Given the description of an element on the screen output the (x, y) to click on. 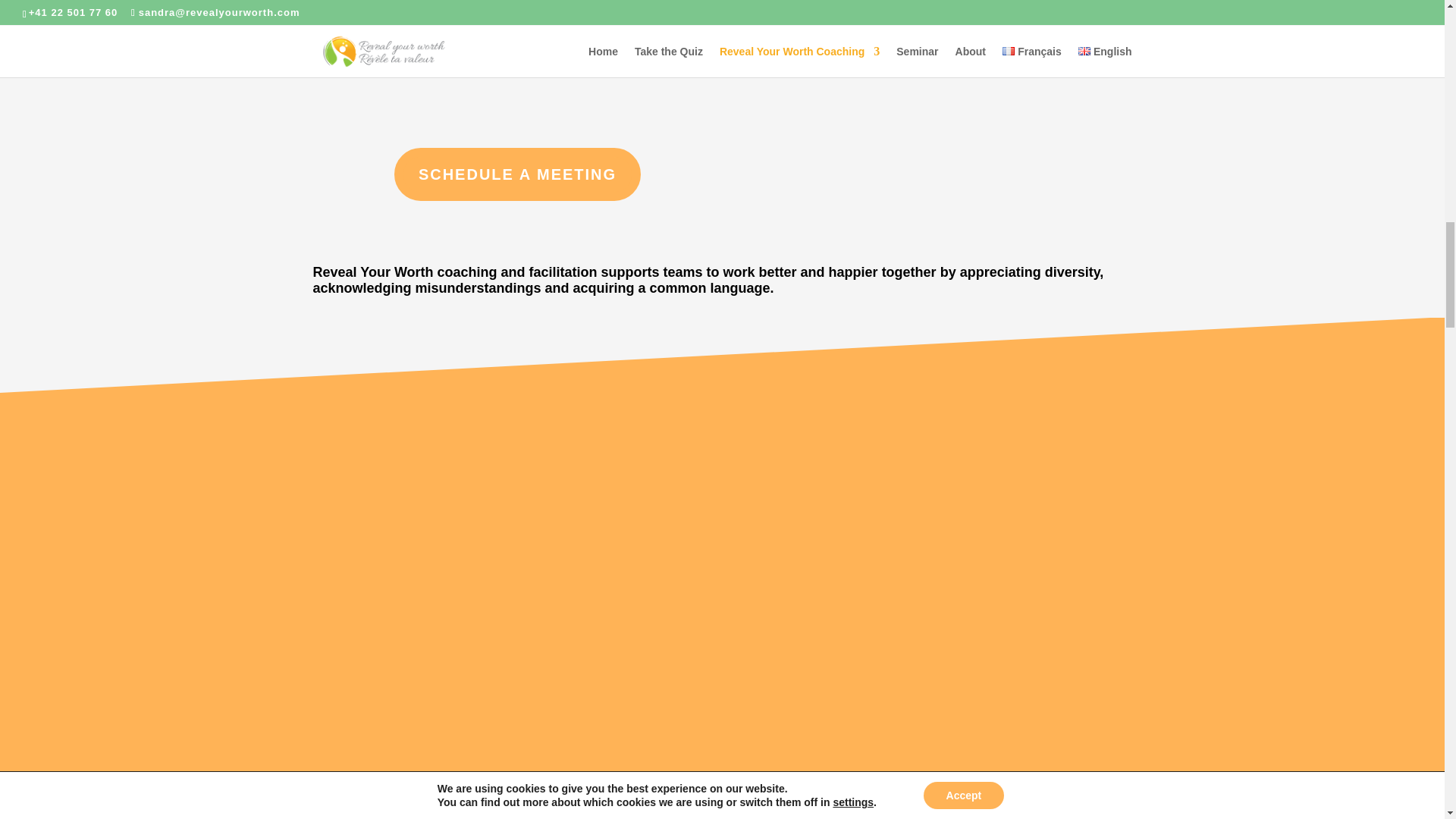
SCHEDULE A MEETING (517, 174)
